Given the description of an element on the screen output the (x, y) to click on. 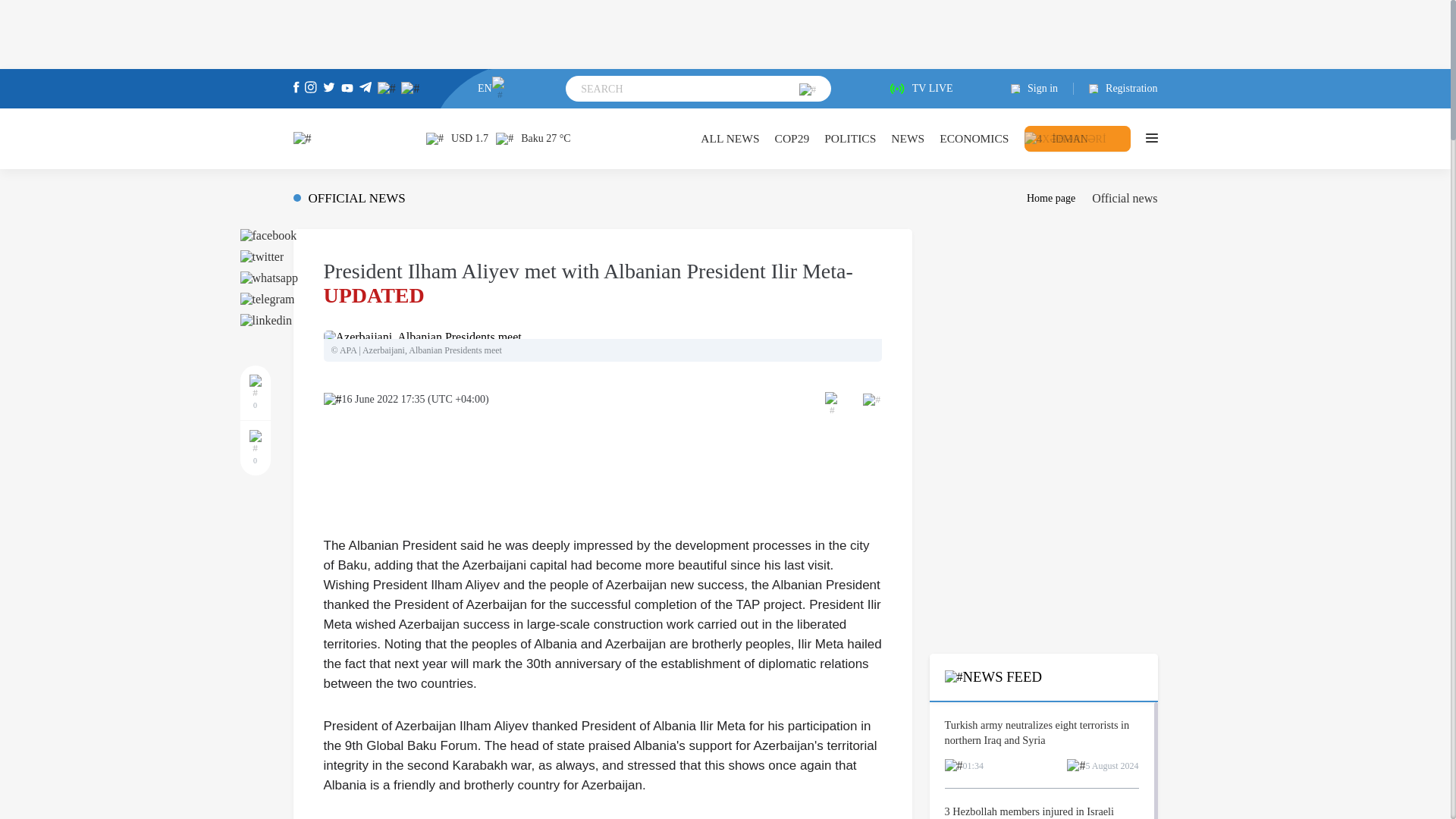
COP29 (791, 138)
Sign in (1042, 88)
USD 1.7 (456, 138)
Registration (1115, 88)
ALL NEWS (729, 138)
ECONOMICS (974, 138)
POLITICS (850, 138)
TV LIVE (921, 88)
NEWS (907, 138)
